Given the description of an element on the screen output the (x, y) to click on. 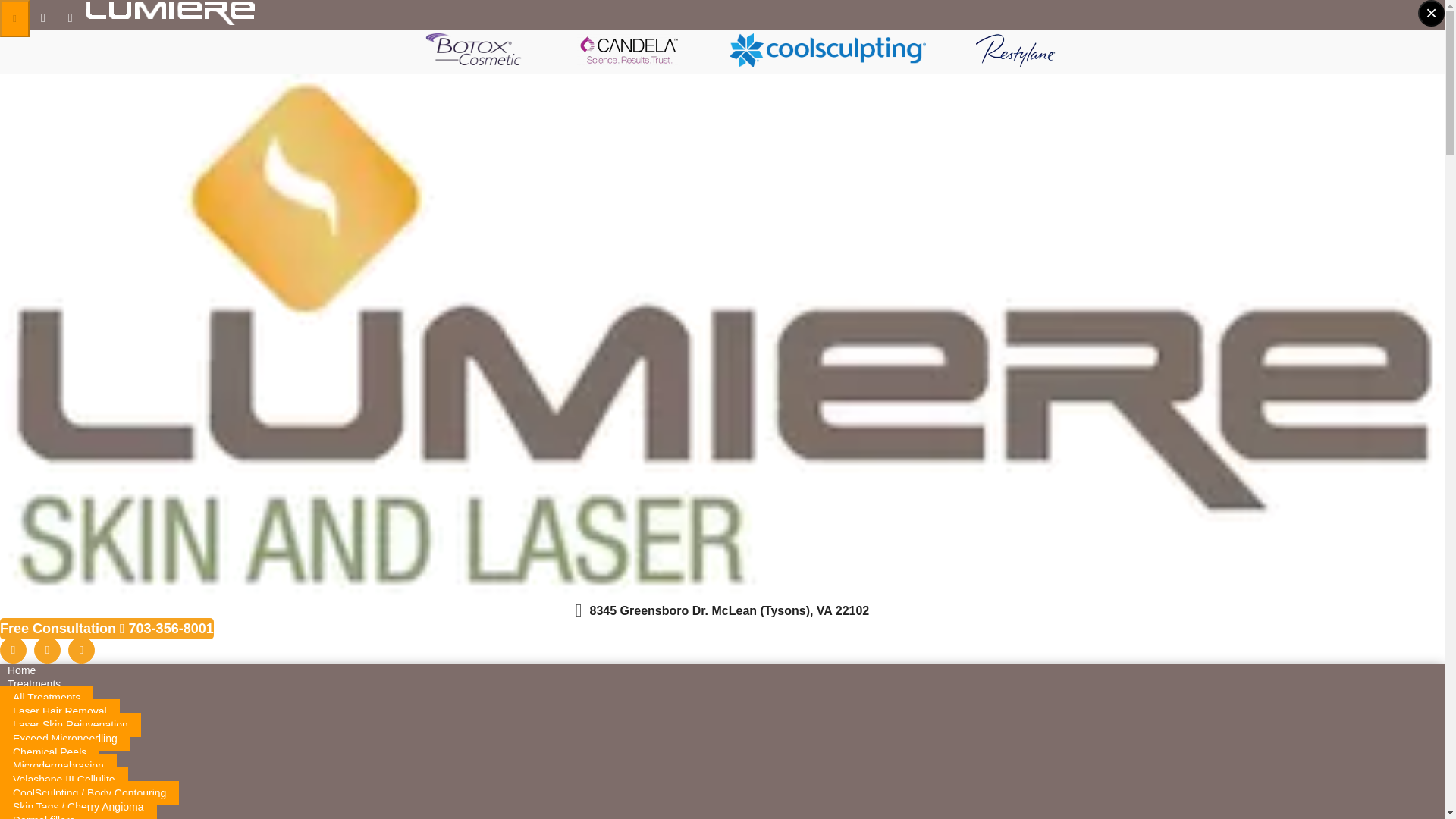
All Treatments (46, 697)
Microdermabrasion (58, 765)
Dermal fillers (43, 813)
Laser Hair Removal (59, 711)
Treatments (34, 683)
Home (21, 669)
Exceed Microneedling (65, 738)
Velashape III Cellulite (64, 779)
Free Consultation 703-356-8001 (107, 628)
Laser Skin Rejuvenation (70, 724)
